Given the description of an element on the screen output the (x, y) to click on. 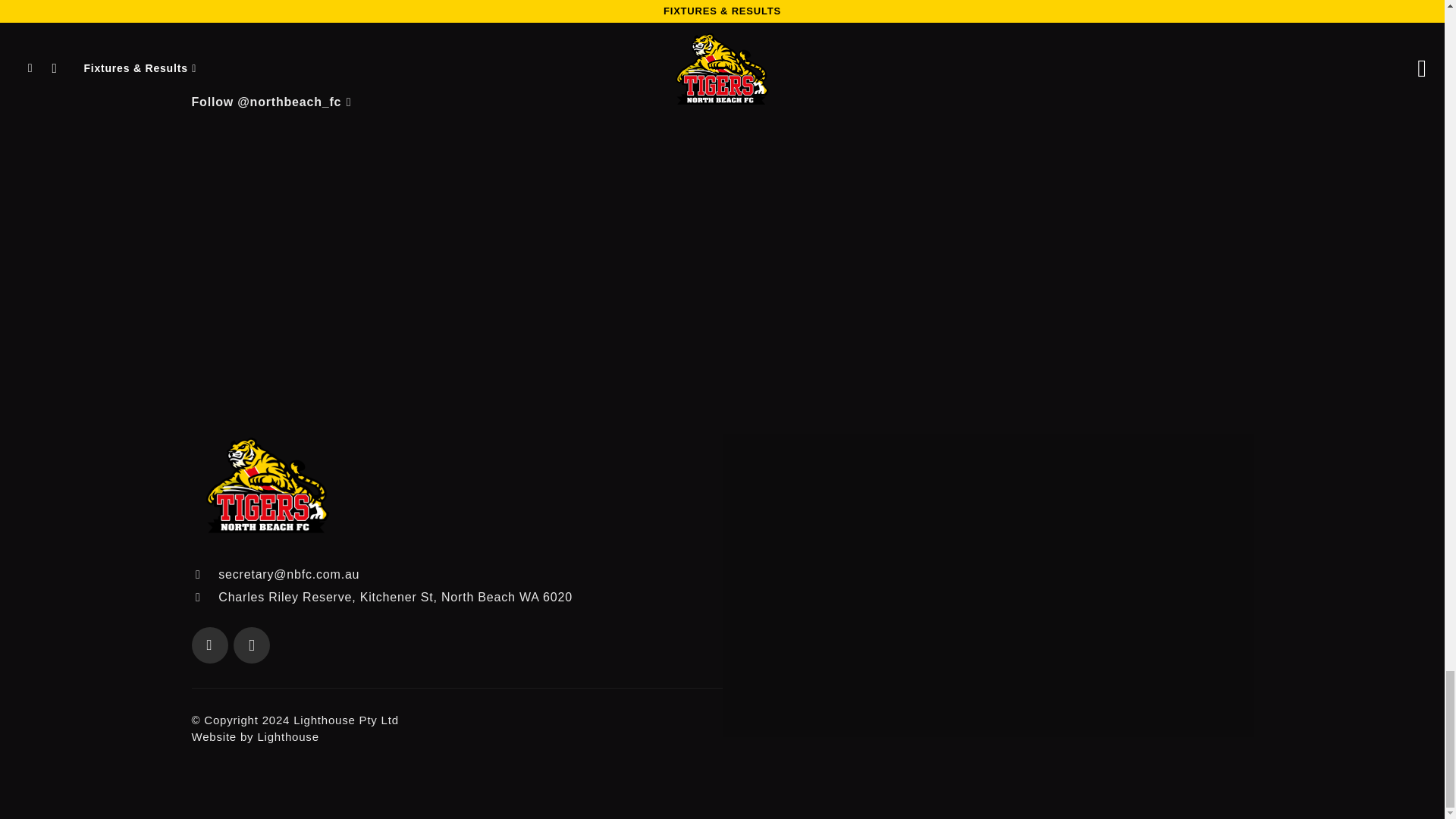
Facebook (208, 645)
Instagram (250, 645)
